Given the description of an element on the screen output the (x, y) to click on. 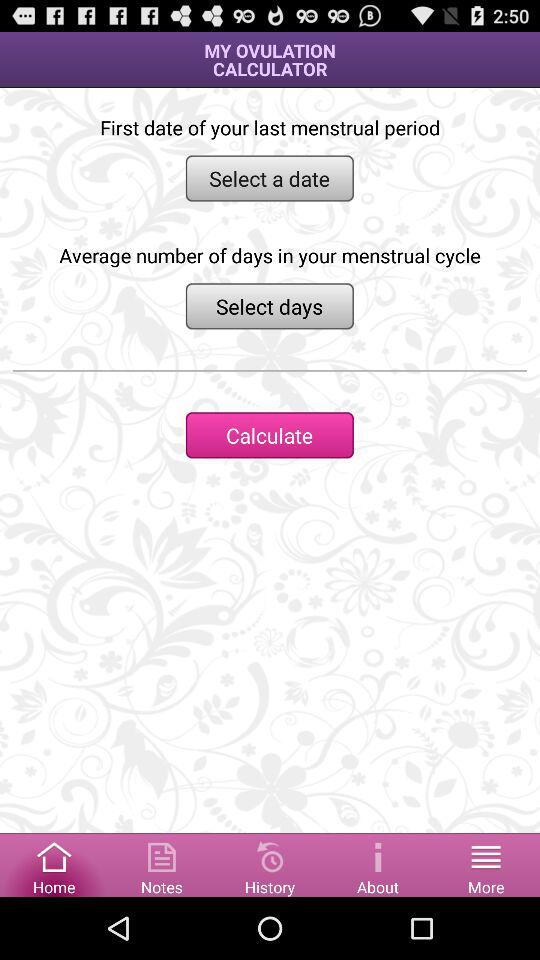
show history (270, 864)
